Given the description of an element on the screen output the (x, y) to click on. 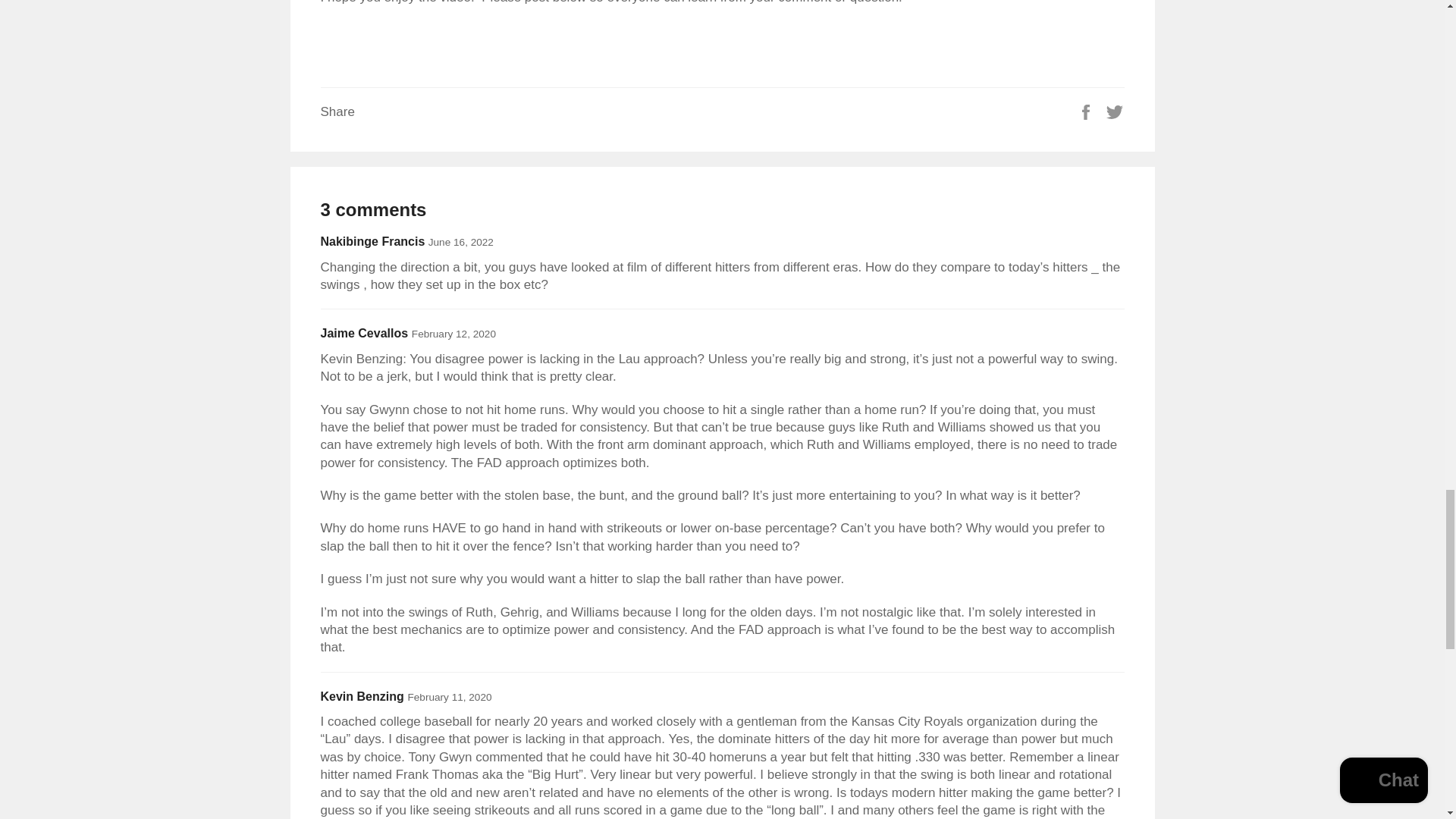
Share on Facebook (1088, 111)
Tweet on Twitter (1114, 111)
Share on Facebook (1088, 111)
Tweet on Twitter (1114, 111)
